Given the description of an element on the screen output the (x, y) to click on. 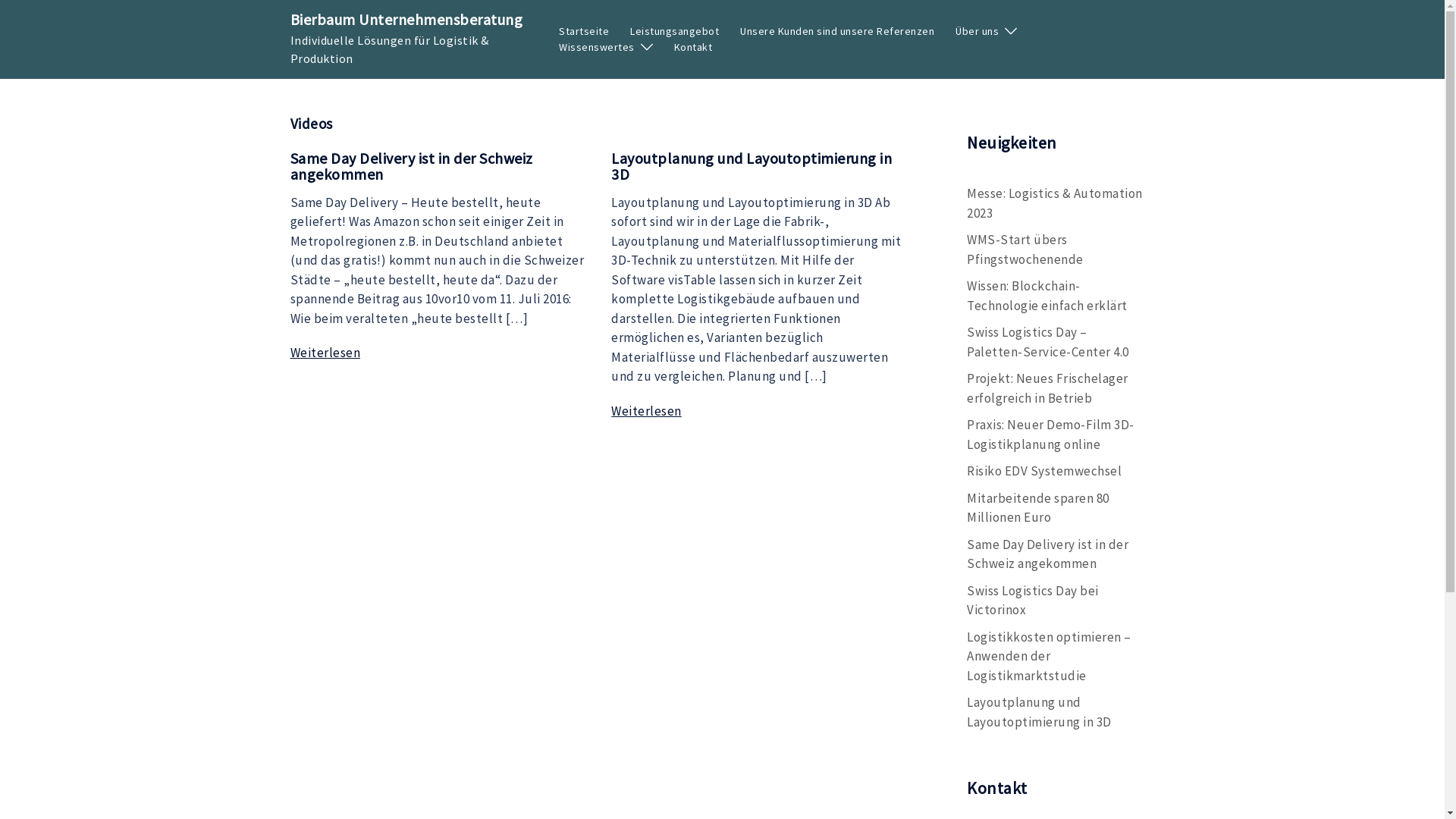
Startseite Element type: text (583, 31)
Weiterlesen Element type: text (324, 353)
Projekt: Neues Frischelager erfolgreich in Betrieb Element type: text (1047, 388)
Swiss Logistics Day bei Victorinox Element type: text (1032, 600)
Same Day Delivery ist in der Schweiz angekommen Element type: text (1047, 553)
Unsere Kunden sind unsere Referenzen Element type: text (837, 31)
Bierbaum Unternehmensberatung Element type: text (405, 18)
Messe: Logistics & Automation 2023 Element type: text (1054, 203)
Wissenswertes Element type: text (596, 47)
Leistungsangebot Element type: text (674, 31)
Same Day Delivery ist in der Schweiz angekommen Element type: text (410, 165)
Layoutplanung und Layoutoptimierung in 3D Element type: text (751, 165)
Kontakt Element type: text (693, 47)
Mitarbeitende sparen 80 Millionen Euro Element type: text (1037, 507)
Layoutplanung und Layoutoptimierung in 3D Element type: text (1038, 711)
Praxis: Neuer Demo-Film 3D-Logistikplanung online Element type: text (1050, 434)
Risiko EDV Systemwechsel Element type: text (1043, 470)
Weiterlesen Element type: text (646, 411)
